Given the description of an element on the screen output the (x, y) to click on. 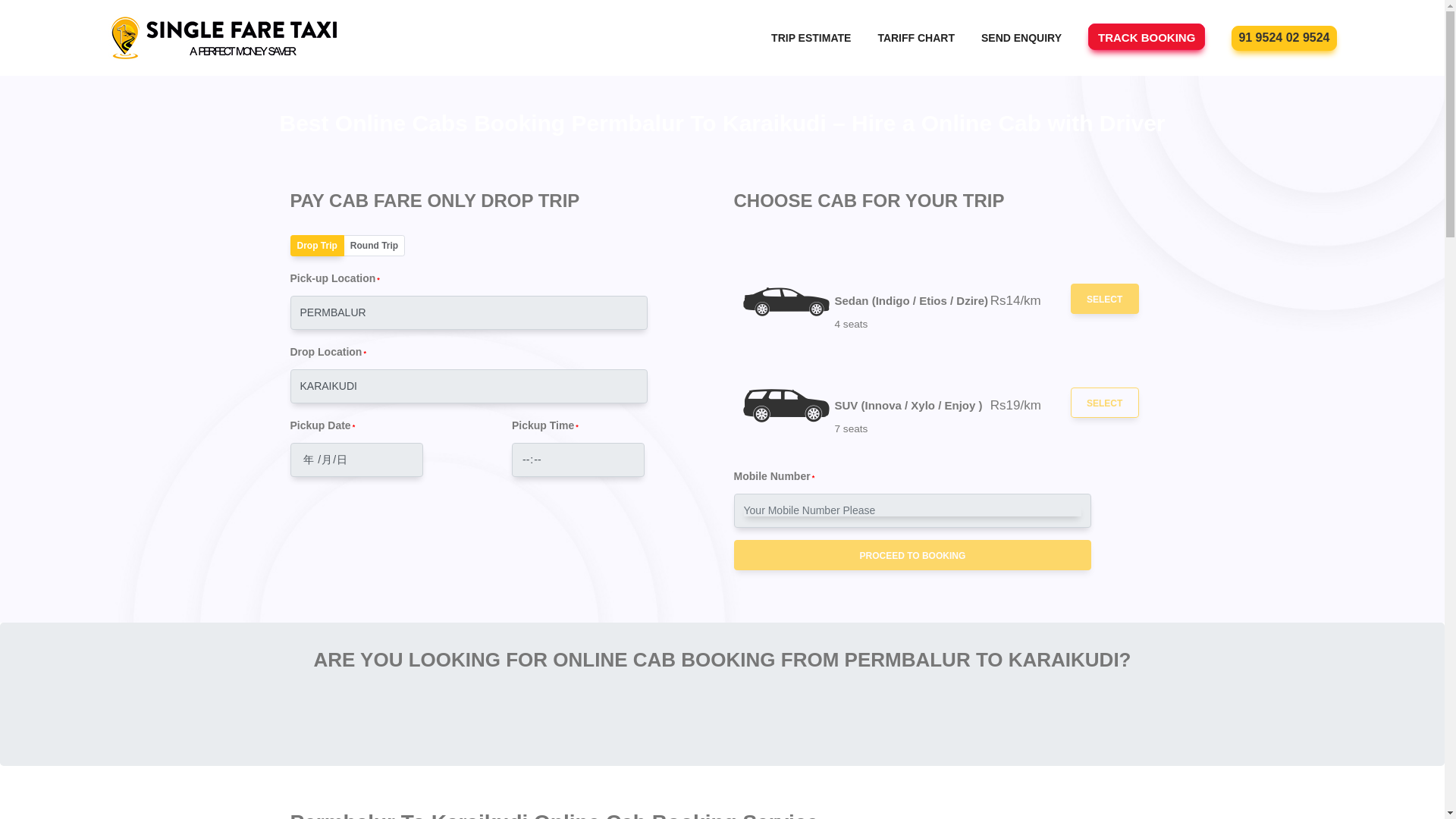
Track Booking (1146, 38)
SEND ENQUIRY (1021, 38)
Round Trip (373, 245)
PERMBALUR (468, 312)
TARIFF CHART (916, 38)
KARAIKUDI (468, 386)
91 9524 02 9524 (1283, 37)
TRIP ESTIMATE (810, 38)
Send Enquiry (1021, 38)
SELECT (1104, 402)
Drop Trip (316, 245)
SELECT (1104, 298)
TRACK BOOKING (1146, 38)
Trip Estimate (810, 38)
PROCEED TO BOOKING (912, 554)
